Given the description of an element on the screen output the (x, y) to click on. 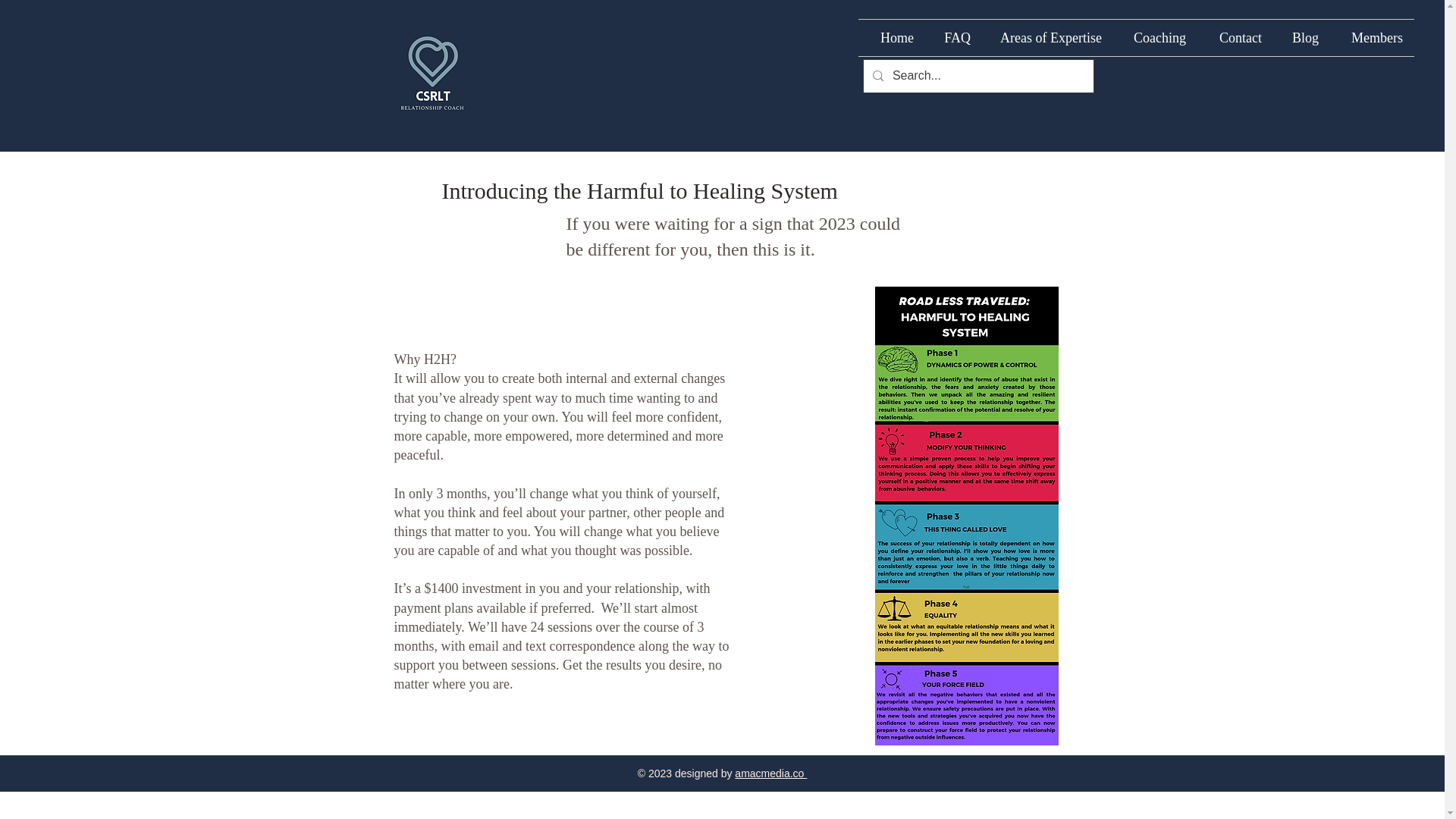
Blog (1301, 37)
Areas of Expertise (1047, 37)
Home (891, 37)
FAQ (952, 37)
Coaching (1154, 37)
amacmedia.co  (770, 773)
Members (1371, 37)
Contact (1234, 37)
